Given the description of an element on the screen output the (x, y) to click on. 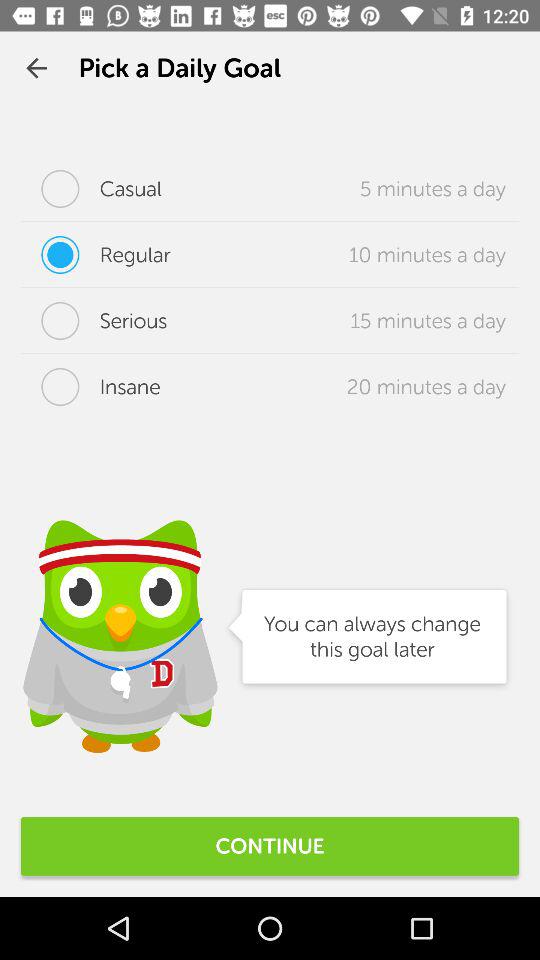
turn on app next to pick a daily icon (36, 68)
